Given the description of an element on the screen output the (x, y) to click on. 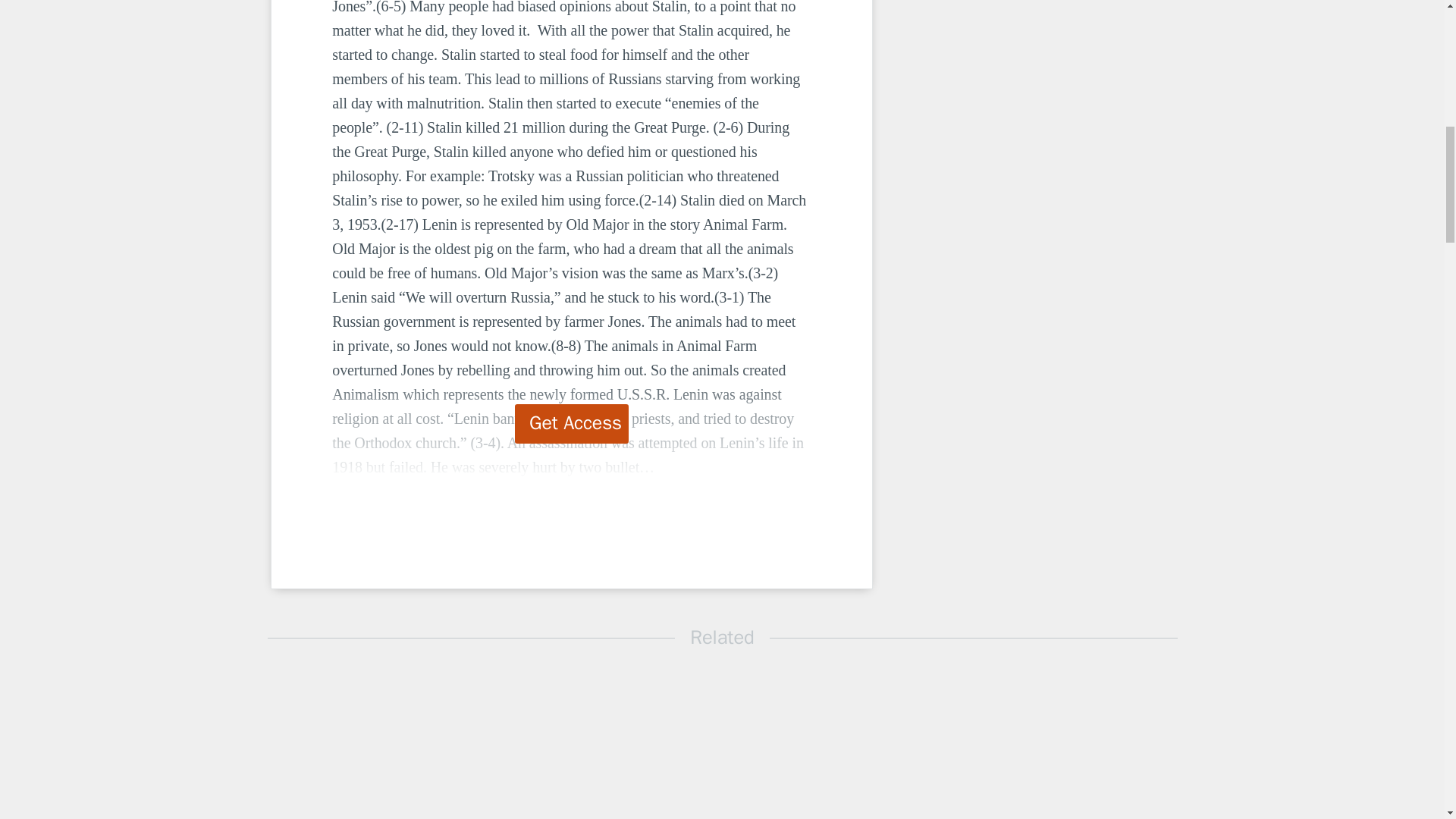
Get Access (571, 423)
